Given the description of an element on the screen output the (x, y) to click on. 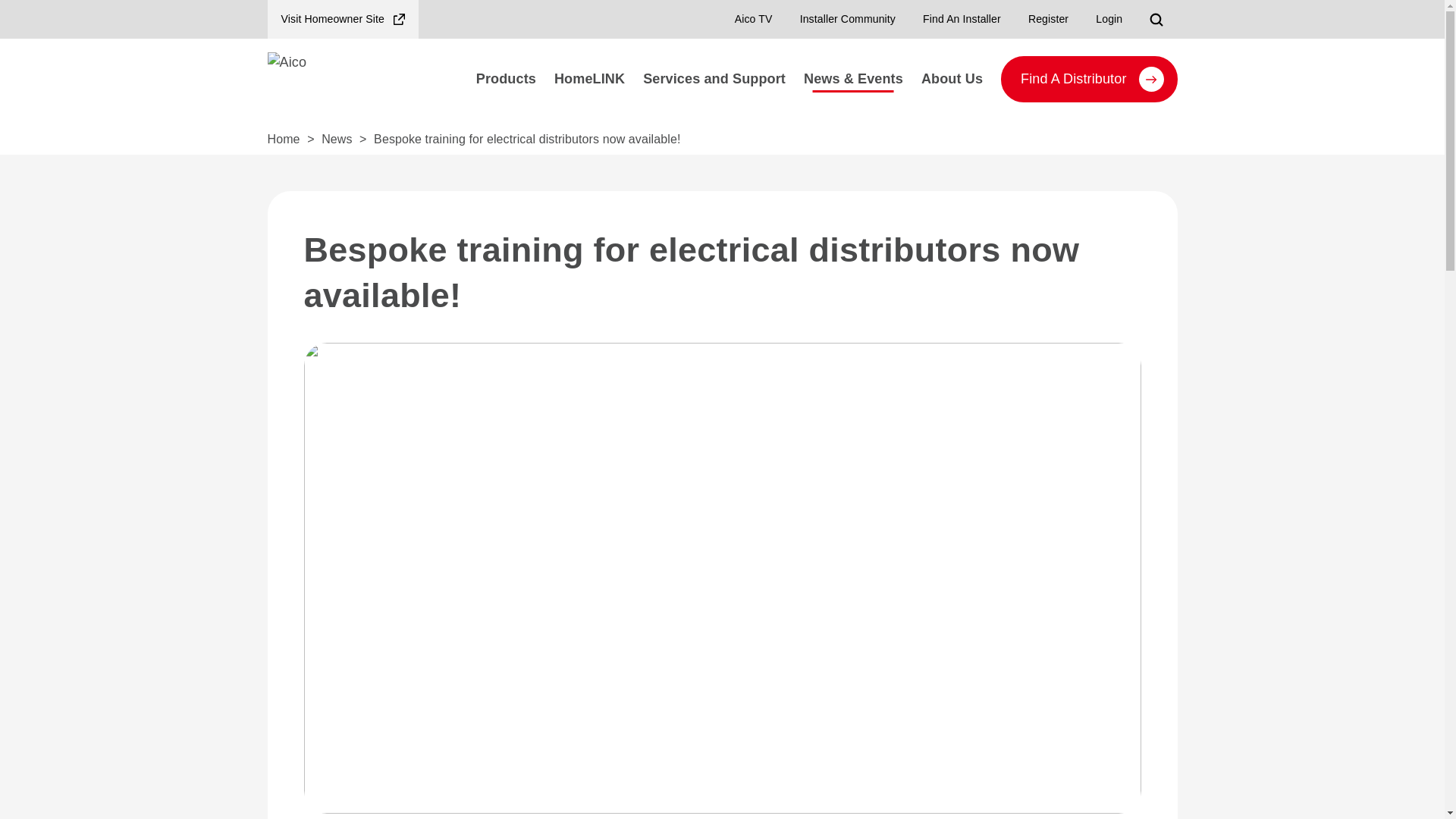
HomeLINK (588, 78)
Register (1047, 19)
Login (1108, 19)
Installer Community (847, 19)
Aico TV (753, 19)
Find An Installer (961, 19)
Products (505, 78)
Visit Homeowner Site (341, 19)
